Given the description of an element on the screen output the (x, y) to click on. 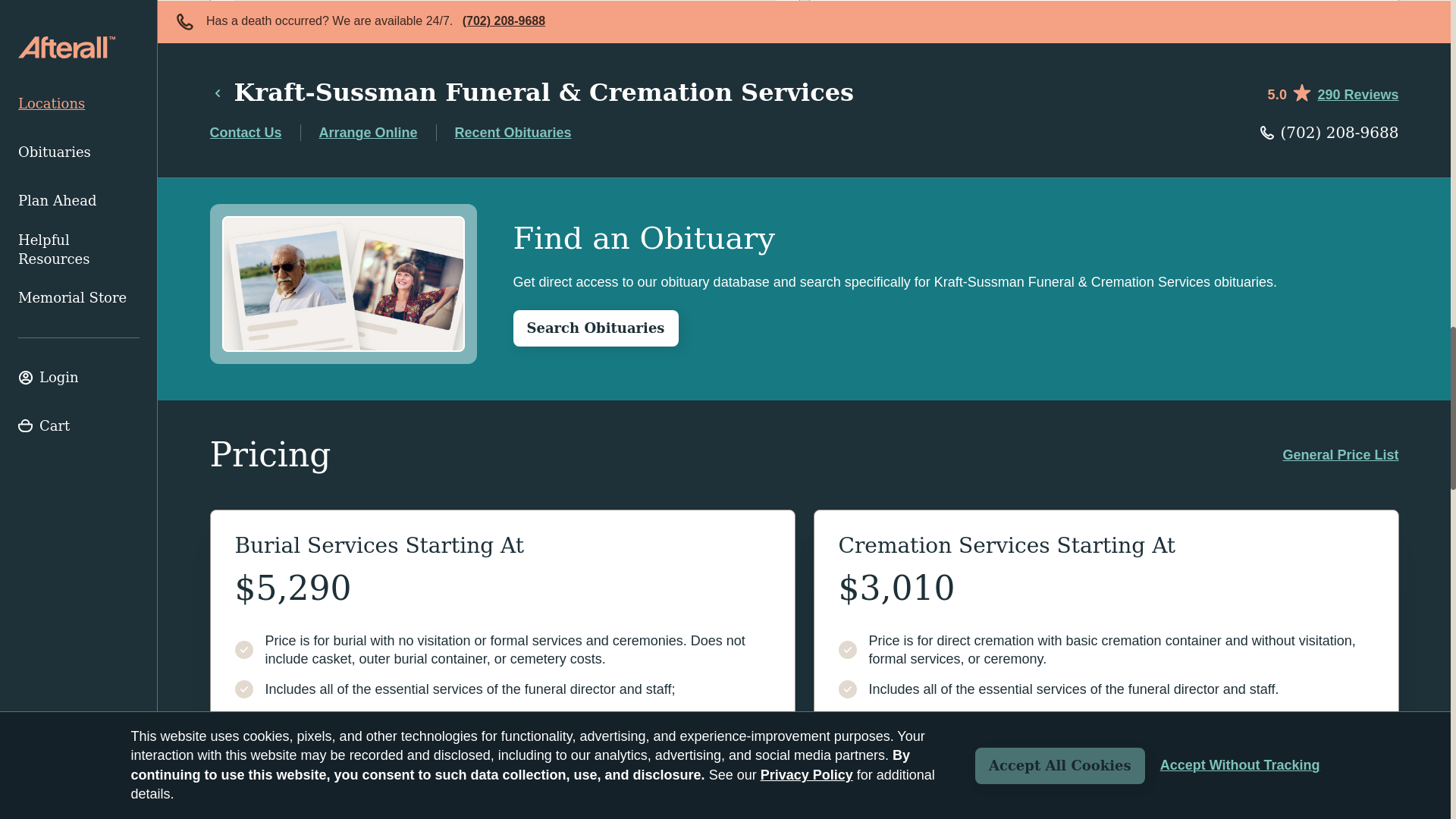
Services We Offer (504, 4)
Memorialization (504, 35)
